Given the description of an element on the screen output the (x, y) to click on. 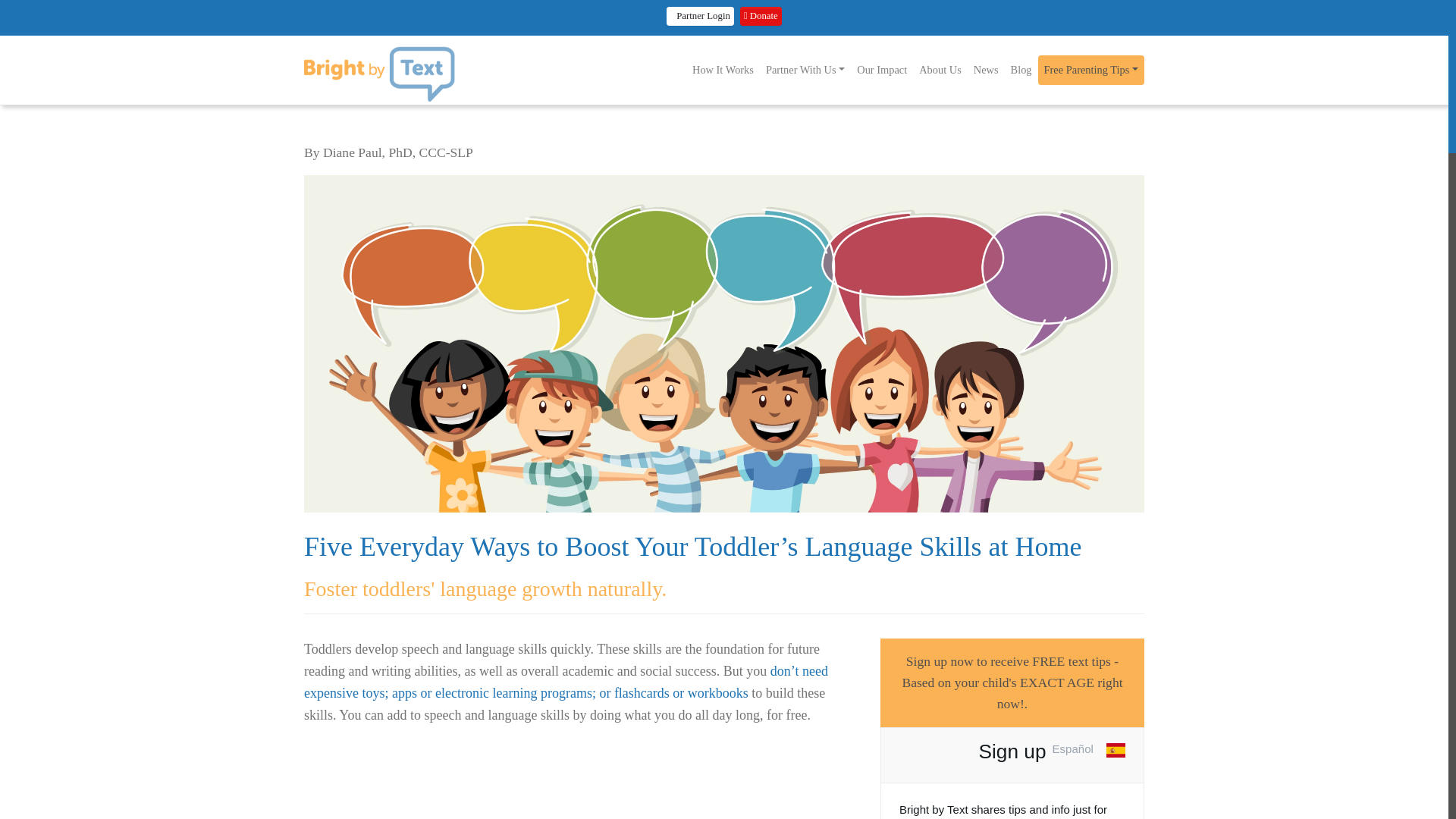
Our Impact (881, 70)
News (986, 70)
How It Works (722, 70)
Blog (1021, 70)
Free Parenting Tips (1091, 48)
About Us (940, 70)
Partner Login (699, 15)
Donate (760, 15)
Partner With Us (805, 70)
